Given the description of an element on the screen output the (x, y) to click on. 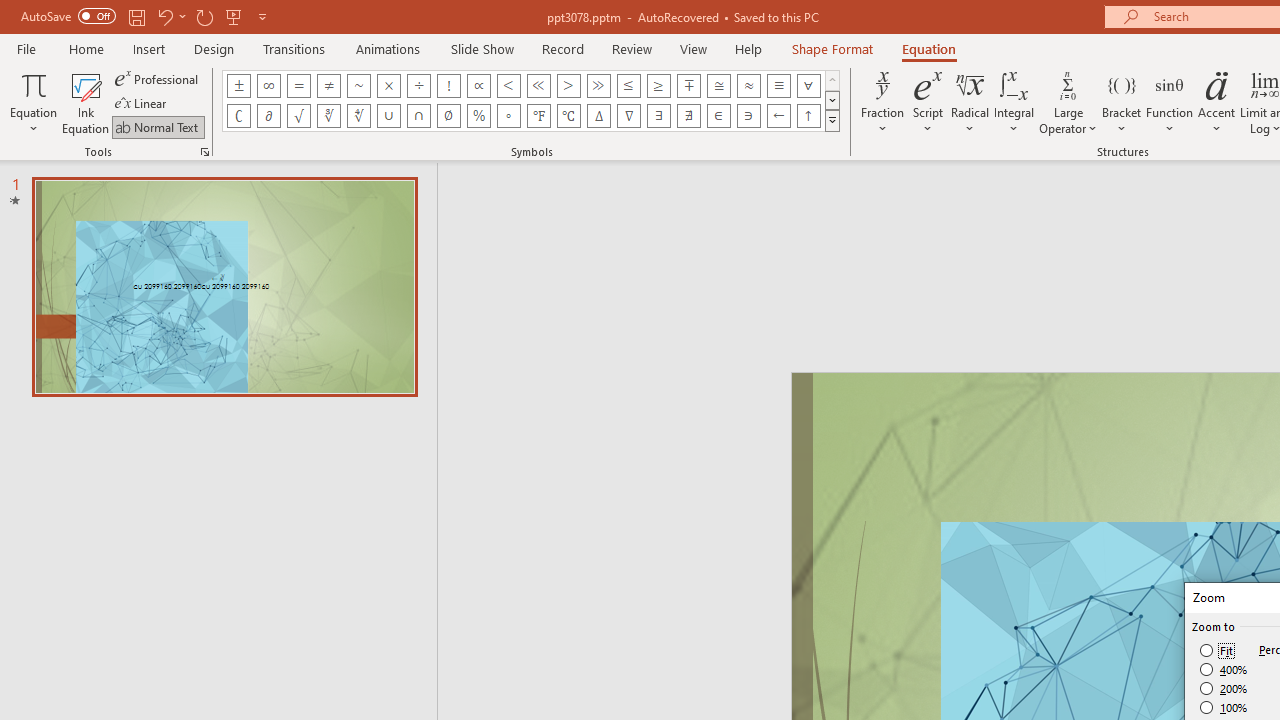
Linear (142, 103)
Equation Symbol Cube Root (328, 115)
Equation Symbol Equal (298, 85)
Equation Symbol Minus Plus (689, 85)
Equation Symbol Intersection (418, 115)
Accent (1216, 102)
400% (1224, 669)
Equation Symbol Partial Differential (268, 115)
Script (927, 102)
Equation Symbol Increment (598, 115)
